Given the description of an element on the screen output the (x, y) to click on. 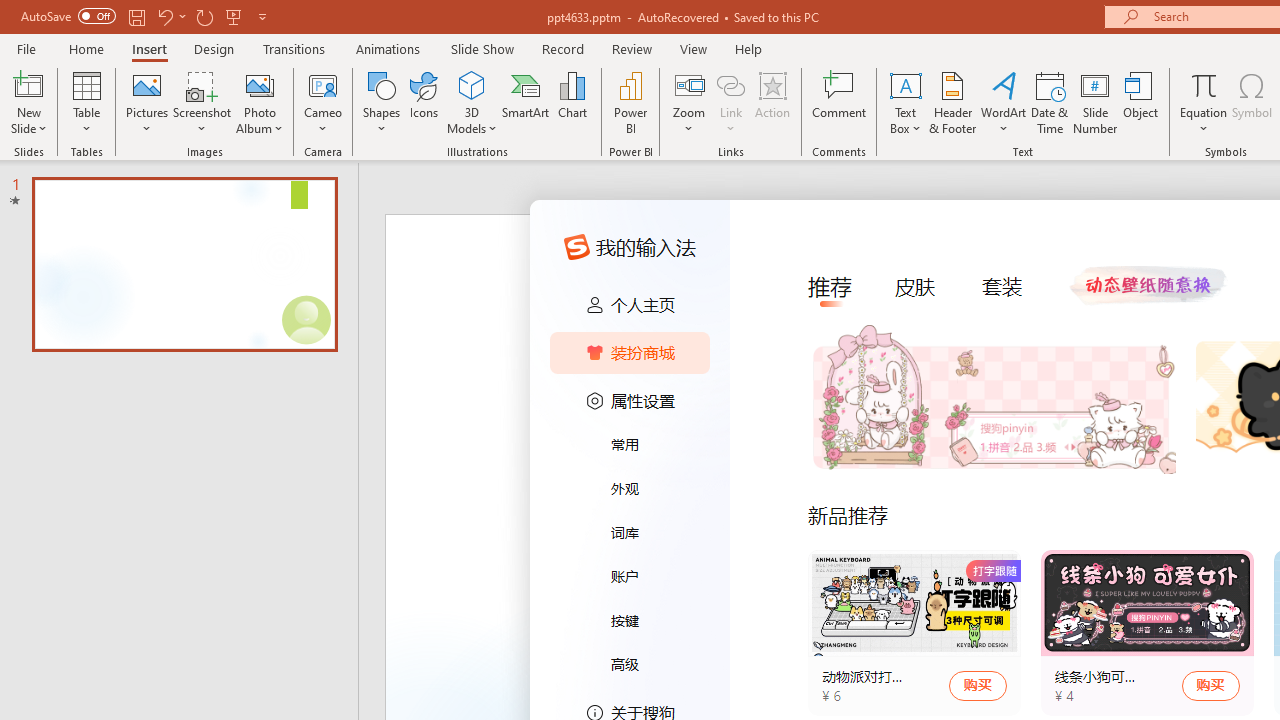
Equation (1203, 102)
Symbol... (1252, 102)
Slide Number (1095, 102)
Chart... (572, 102)
Screenshot (202, 102)
